Given the description of an element on the screen output the (x, y) to click on. 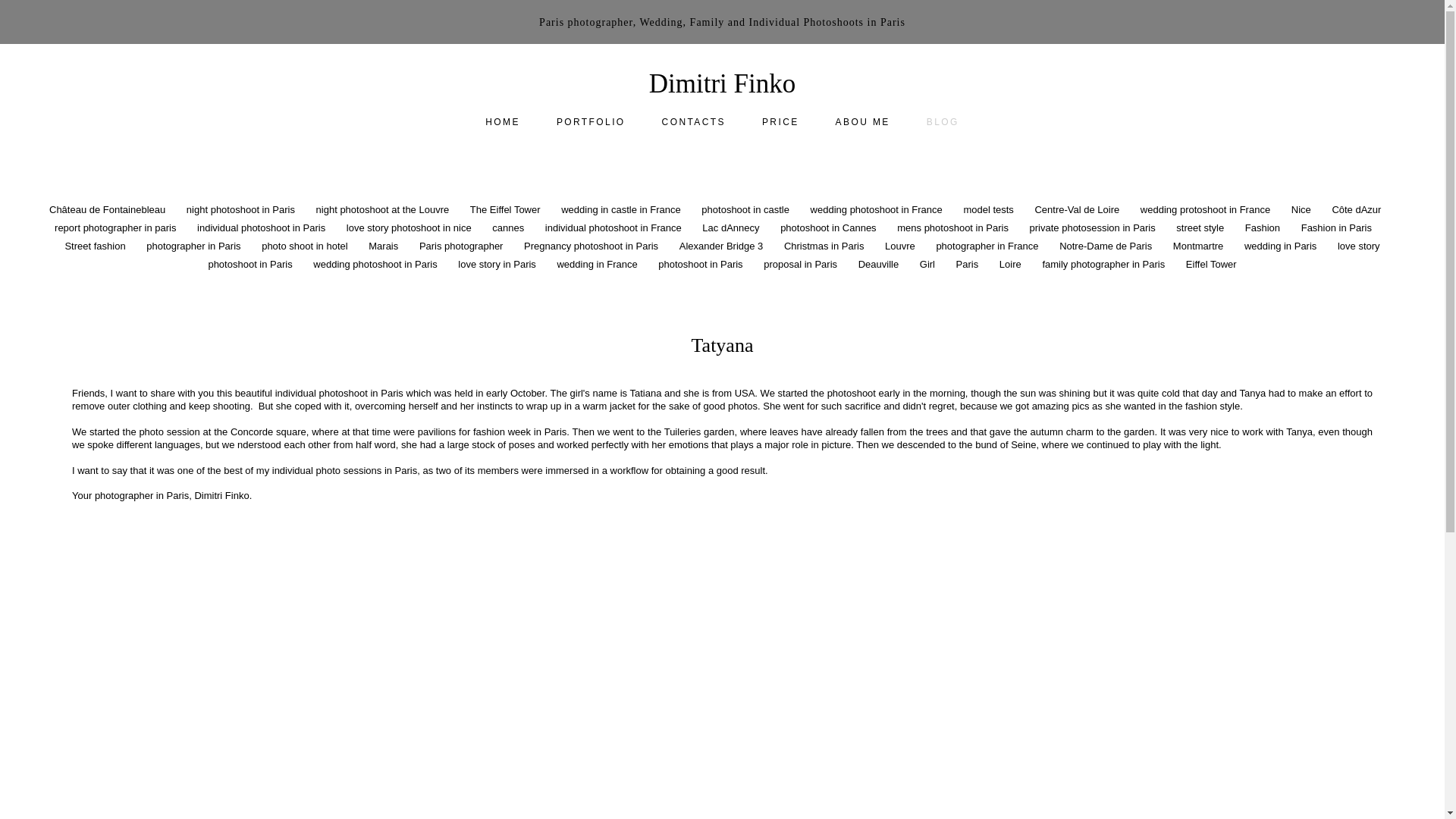
model tests (989, 209)
BLOG (942, 121)
photoshoot in castle (746, 209)
CONTACTS (693, 121)
PORTFOLIO (591, 121)
PRICE (780, 121)
wedding photoshoot in France (877, 209)
Dimitri Finko (722, 83)
wedding in castle in France (621, 209)
ABOU ME (862, 121)
